Given the description of an element on the screen output the (x, y) to click on. 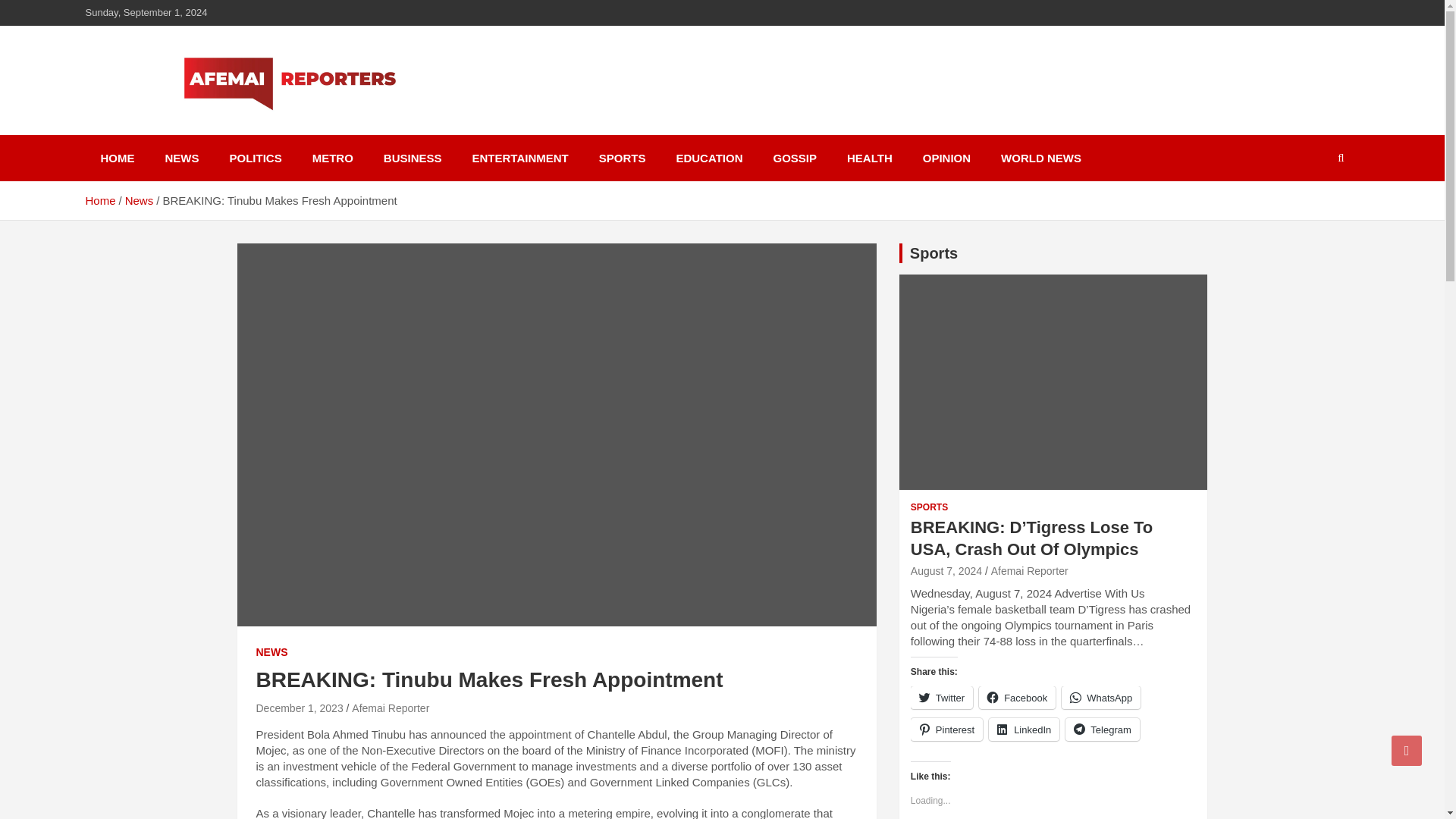
HEALTH (869, 157)
Afemai Reporter (390, 707)
NEWS (272, 652)
BUSINESS (412, 157)
Afemai Reporters (210, 131)
News (139, 200)
Click to share on Pinterest (946, 729)
SPORTS (929, 506)
Click to share on LinkedIn (1023, 729)
December 1, 2023 (299, 707)
